Given the description of an element on the screen output the (x, y) to click on. 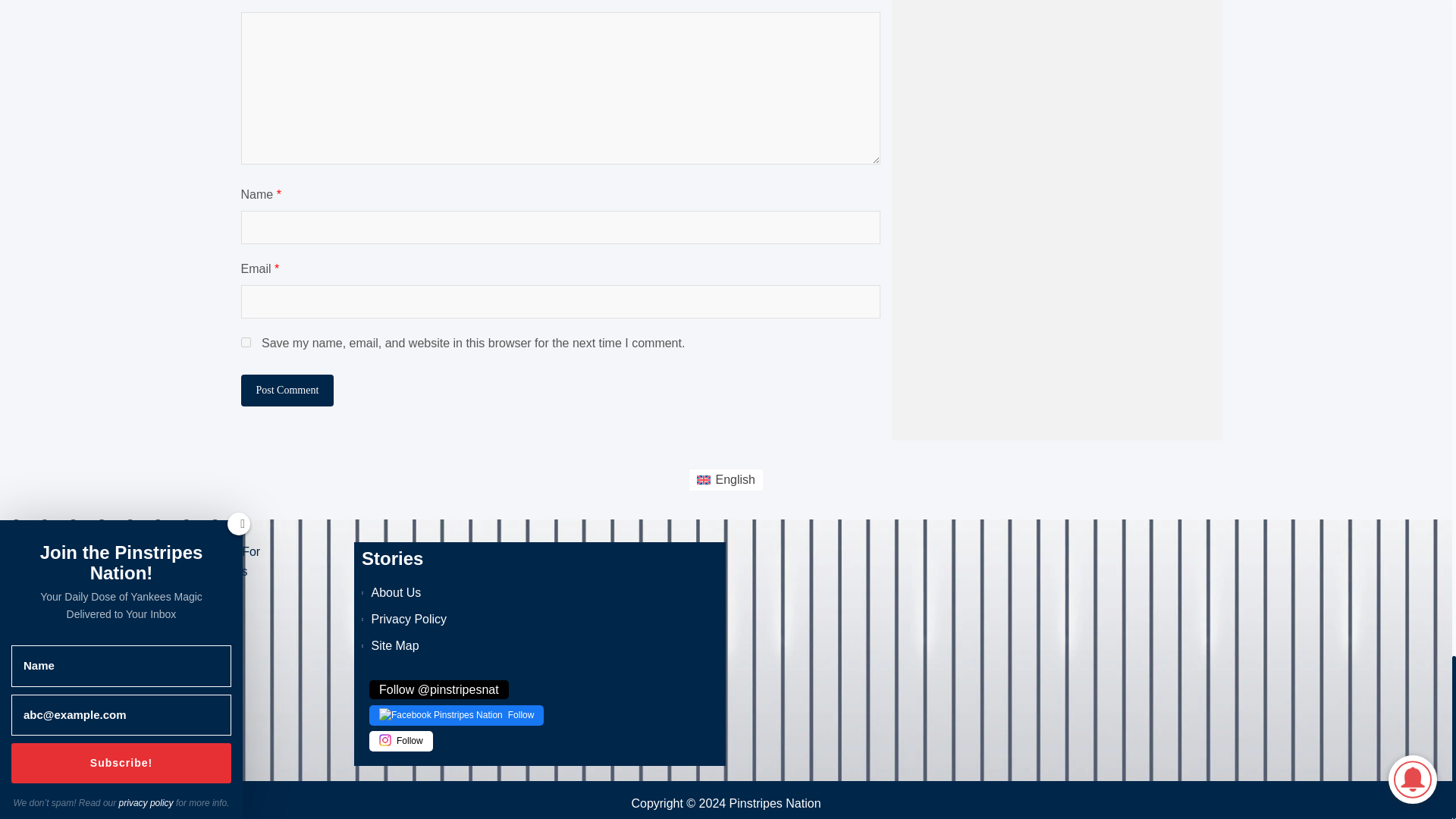
Post Comment (287, 390)
yes (245, 342)
